Given the description of an element on the screen output the (x, y) to click on. 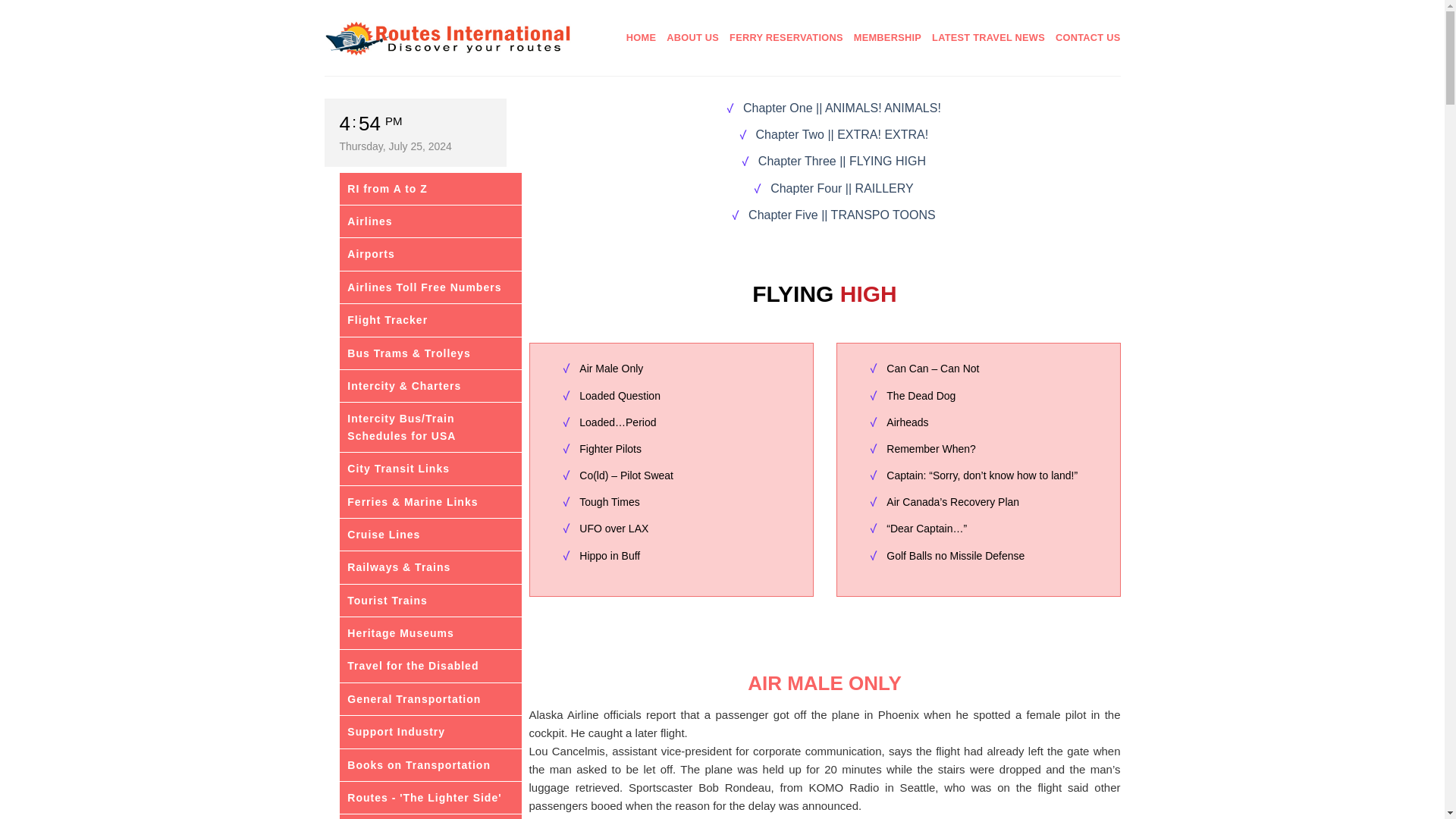
Tourist Trains (430, 600)
Books on Transportation (430, 765)
Flight Tracker (430, 319)
MEMBERSHIP (887, 37)
Travel for the Disabled (430, 665)
CONTACT US (1088, 37)
General Transportation (430, 698)
LATEST TRAVEL NEWS (988, 37)
Cruise Lines (430, 534)
RI from A to Z (430, 188)
ABOUT US (692, 37)
HOME (641, 37)
Airlines Toll Free Numbers (430, 287)
Vignettes from Routes (430, 816)
Heritage Museums (430, 633)
